Given the description of an element on the screen output the (x, y) to click on. 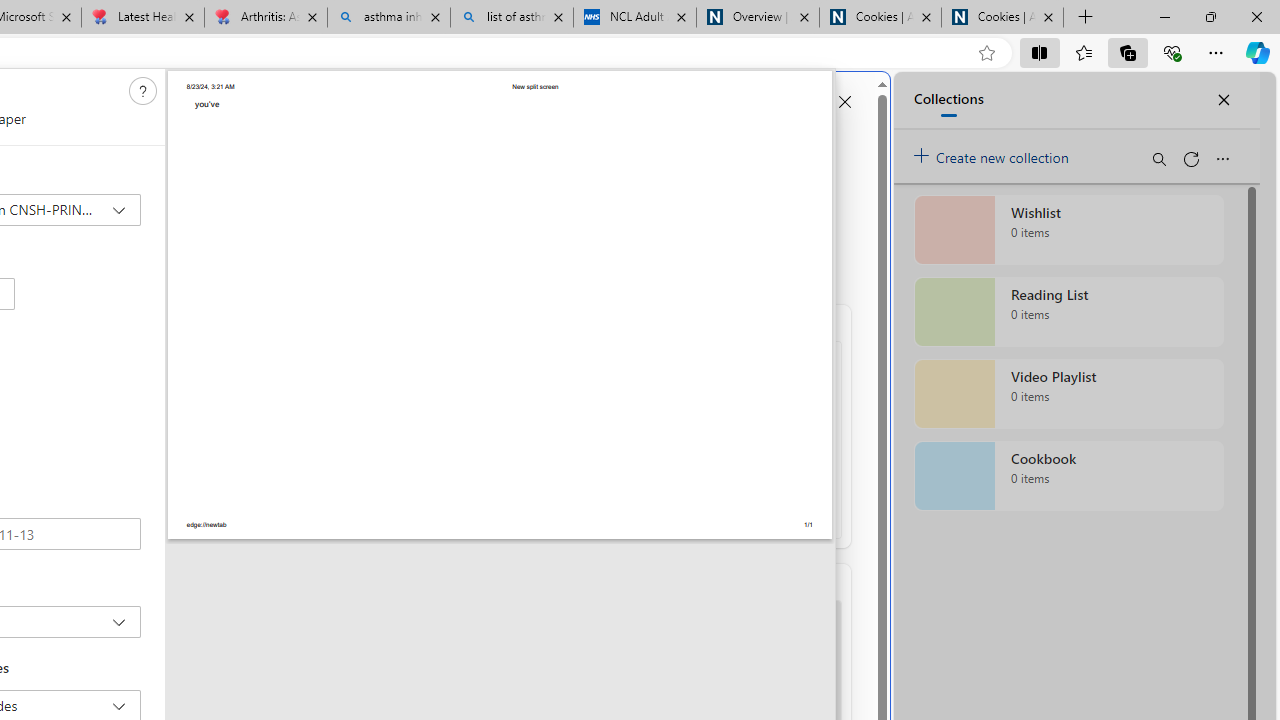
Class: c0129 (142, 90)
Need help (143, 91)
